Given the description of an element on the screen output the (x, y) to click on. 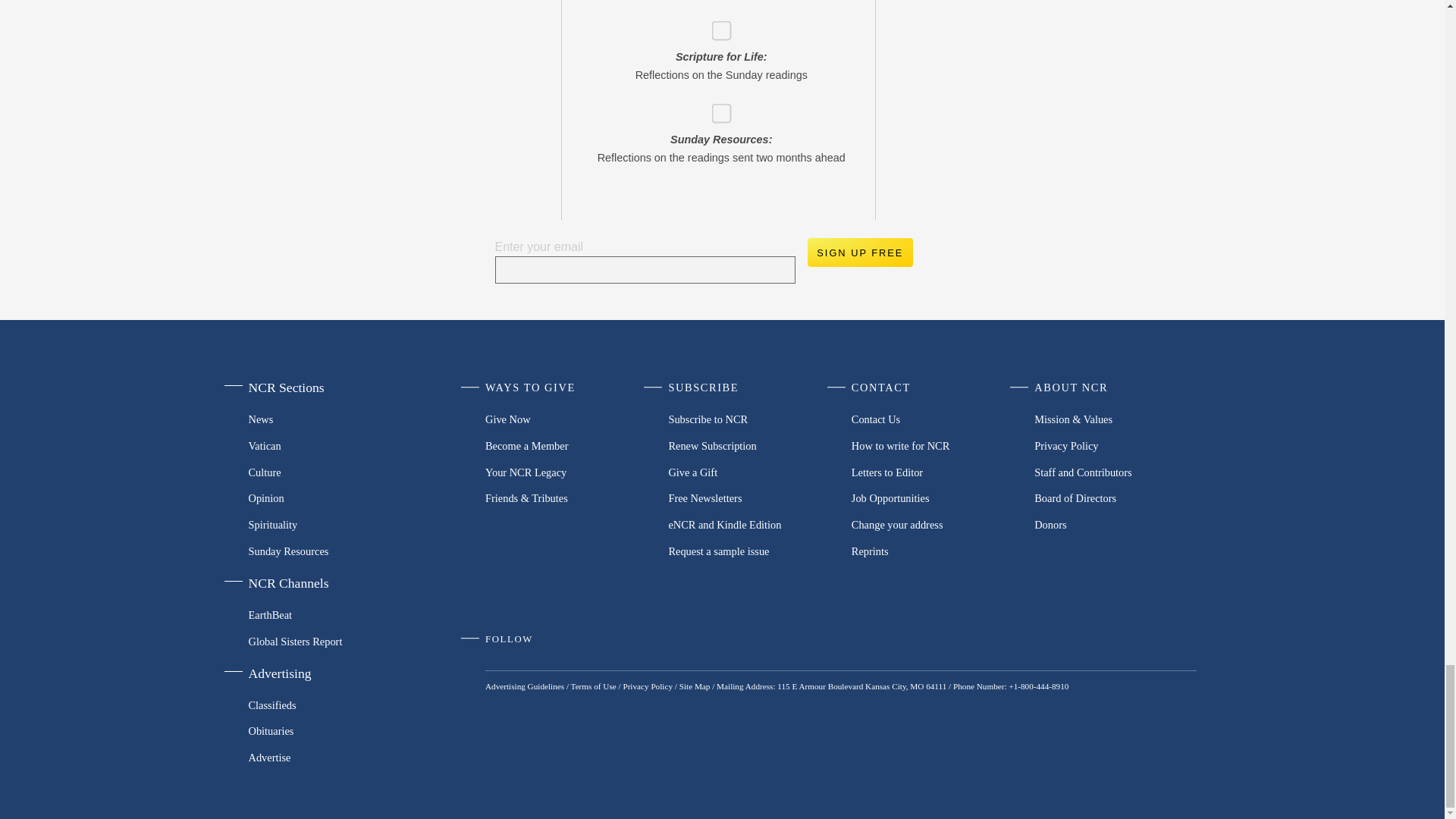
Donors (1114, 524)
Request a sample issue of NCR (748, 550)
dfa4c56aff (715, 108)
Change your address (932, 524)
c25324053e (715, 26)
Advertise with NCR (324, 757)
How to write for NCR (932, 446)
Sign up free (859, 252)
Request a reprint of NCR content (932, 550)
